Given the description of an element on the screen output the (x, y) to click on. 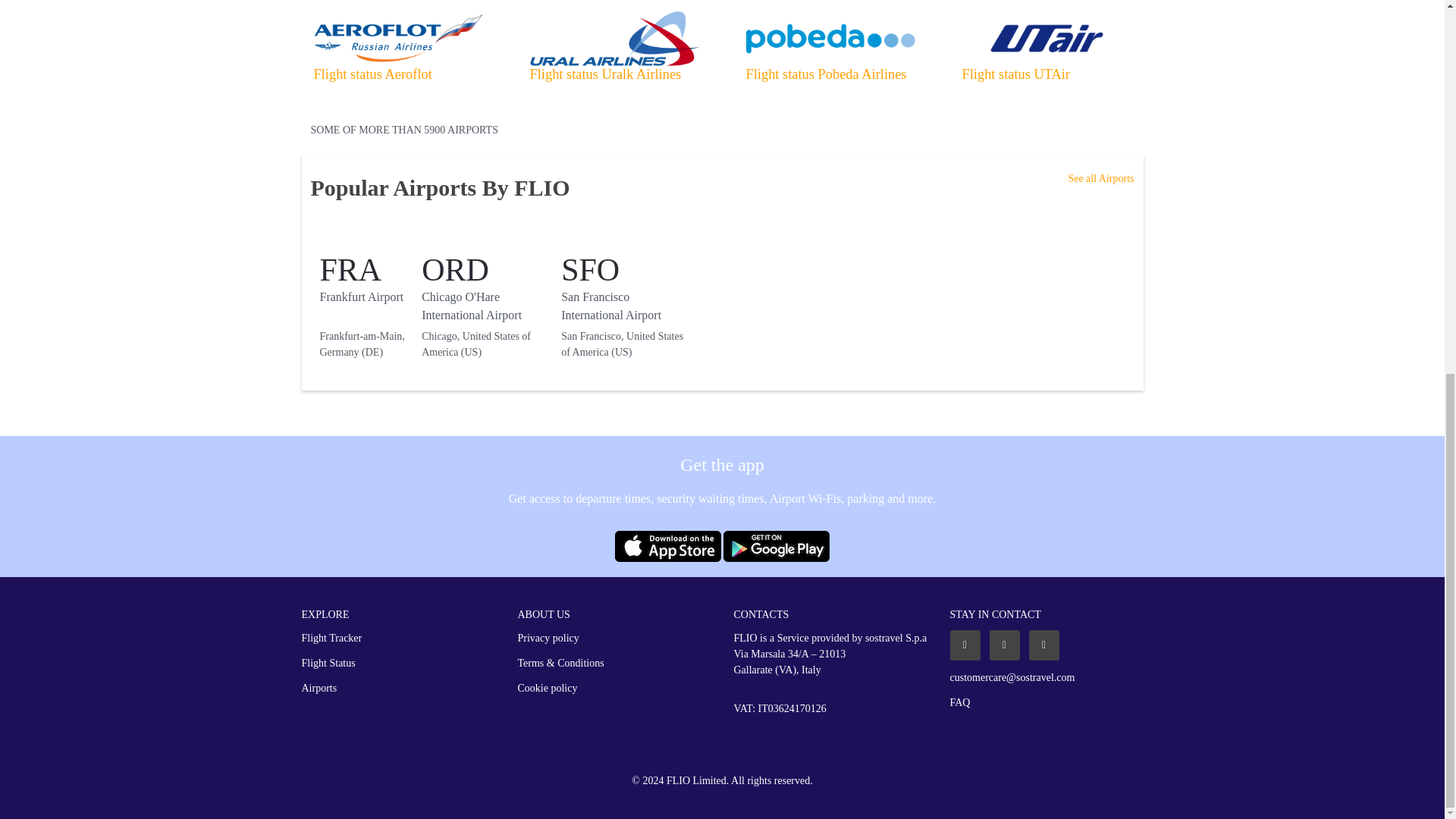
Flight status Aeroflot (373, 73)
Flight Tracker (331, 637)
Airports (319, 688)
Flight status Pobeda Airlines (826, 73)
Cookie policy (546, 688)
Privacy policy (547, 637)
See all Airports (1100, 178)
FAQ (959, 702)
Flight Status (328, 662)
Flight status Uralk Airlines (605, 73)
Flight status UTAir (1015, 73)
